Given the description of an element on the screen output the (x, y) to click on. 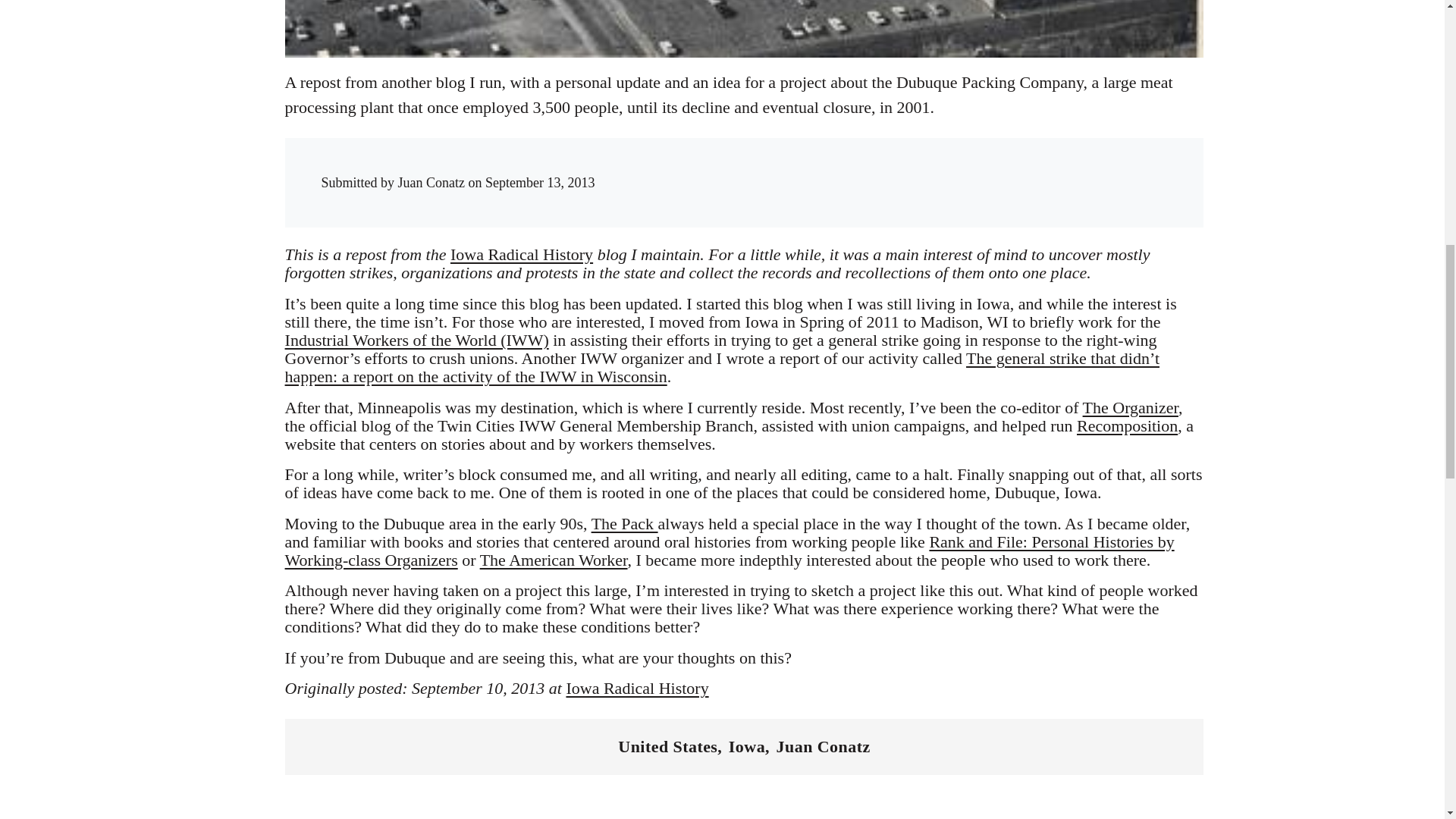
Share to Reddit (975, 168)
The Organizer (1130, 407)
The Pack (624, 523)
Share to Facebook (914, 168)
The American Worker (553, 559)
Iowa Radical History (636, 687)
Juan Conatz (823, 746)
United States (667, 746)
Iowa Radical History (520, 253)
